Given the description of an element on the screen output the (x, y) to click on. 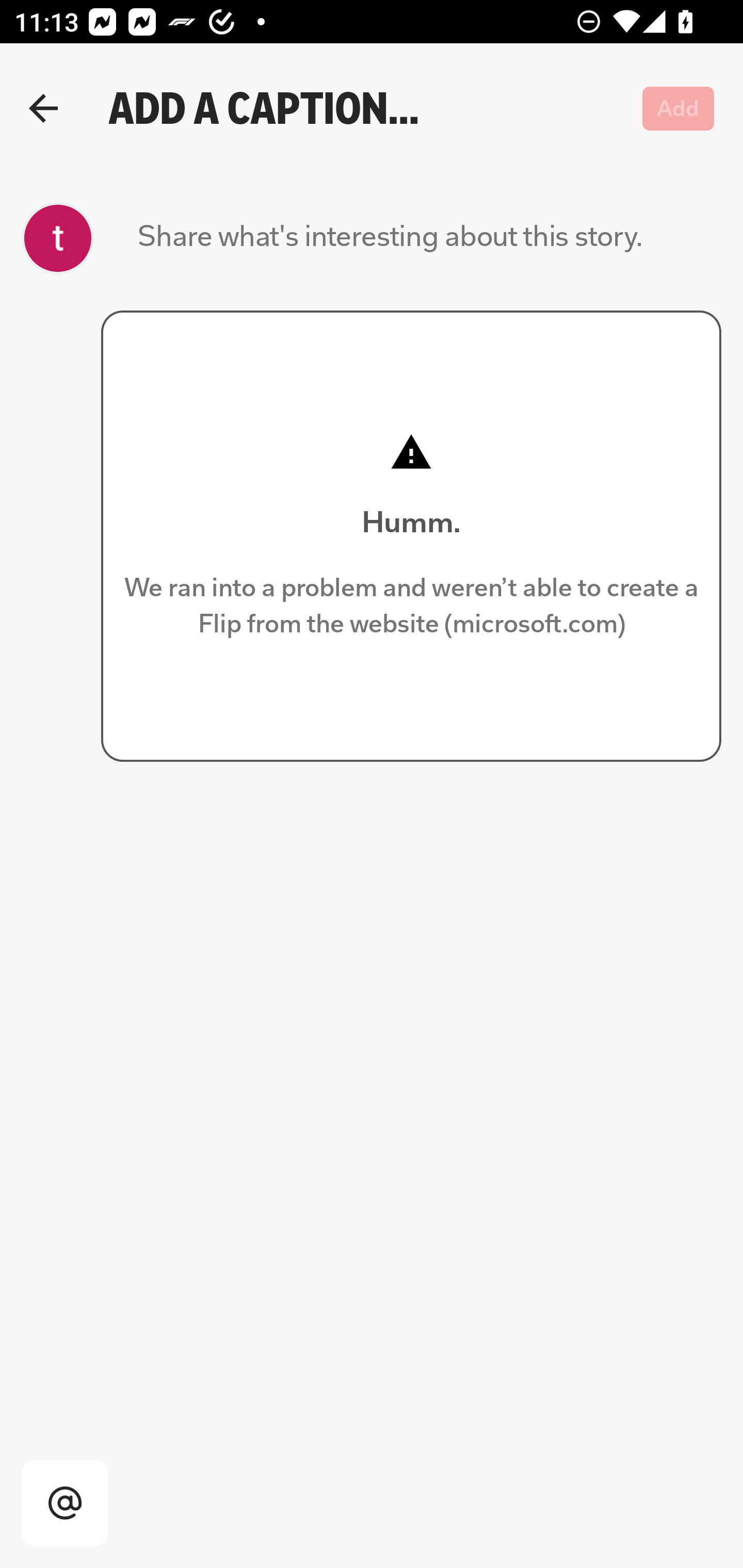
Add (678, 108)
Share what's interesting about this story. (390, 238)
